Given the description of an element on the screen output the (x, y) to click on. 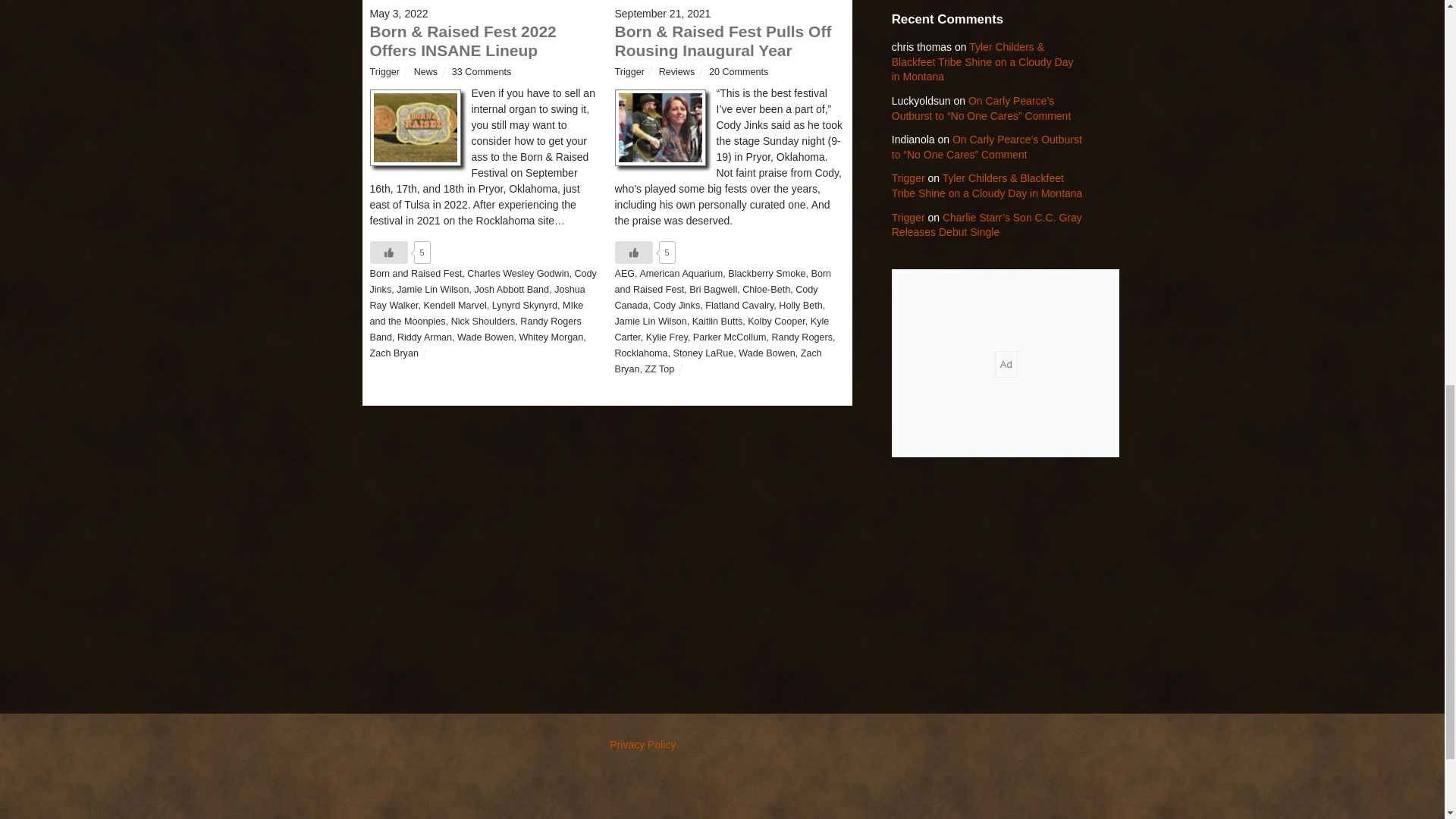
born-and-raised-music-festival (415, 128)
